Given the description of an element on the screen output the (x, y) to click on. 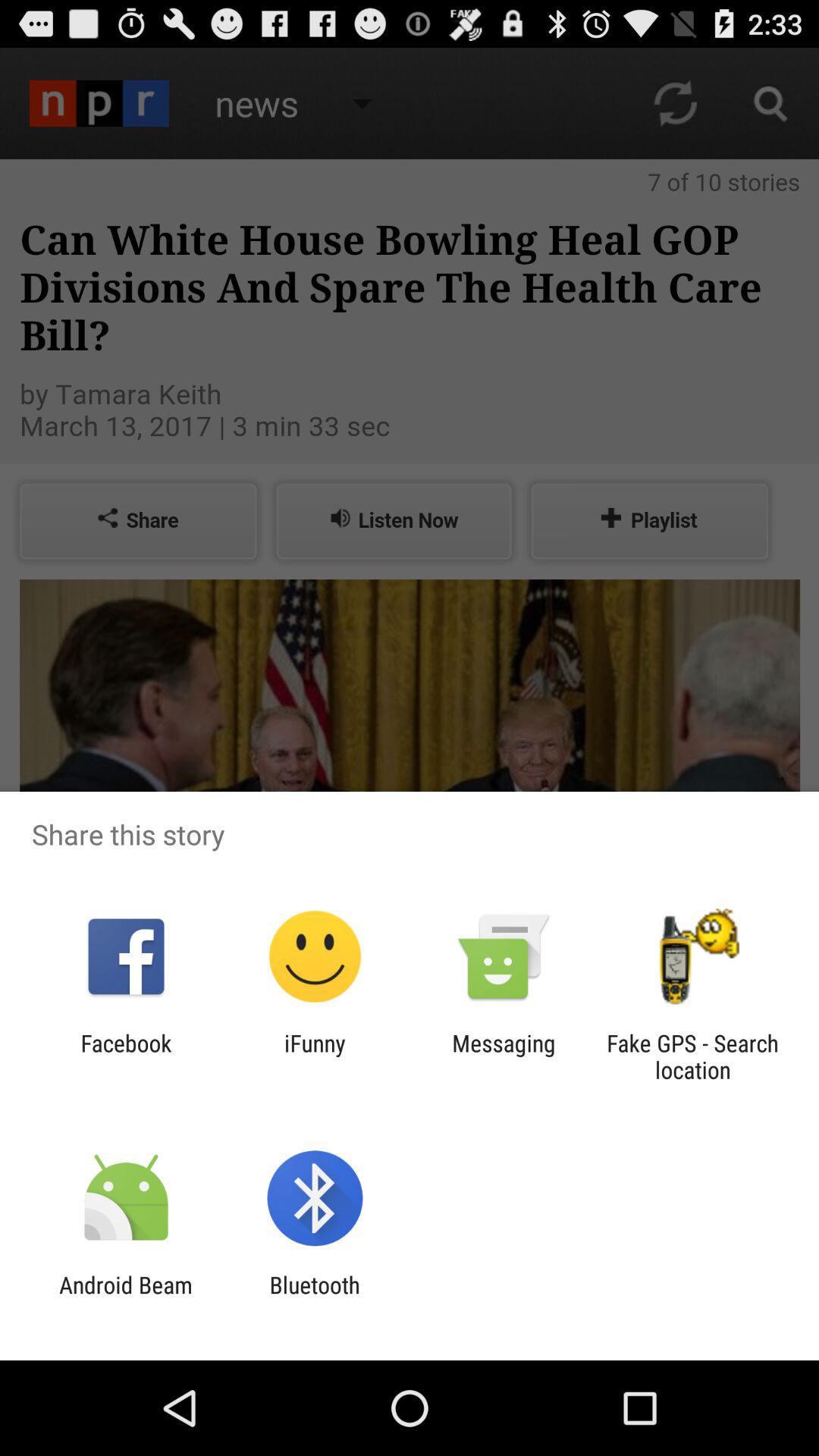
tap the app next to fake gps search item (503, 1056)
